Given the description of an element on the screen output the (x, y) to click on. 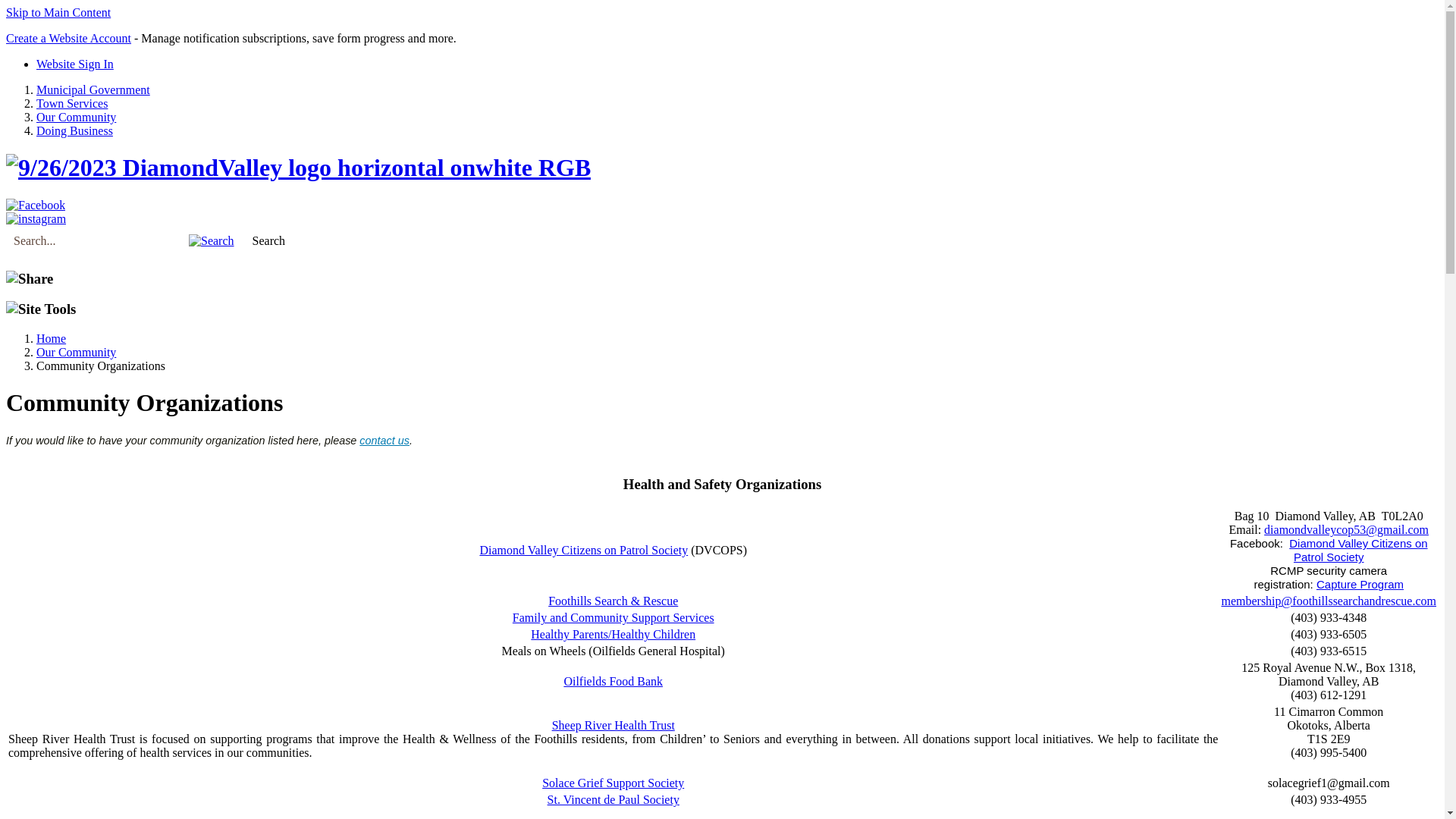
Foothills Search & Rescue Element type: text (612, 600)
Oilfields Food Bank Element type: text (612, 680)
Capture Program Element type: text (1359, 583)
Our Community Element type: text (76, 116)
Municipal Government Element type: text (93, 89)
contact us Element type: text (384, 440)
Solace Grief Support Society Element type: text (613, 782)
Family and Community Support Services Element type: text (613, 617)
Diamond Valley Citizens on Patrol Society Element type: text (583, 549)
Healthy Parents/Healthy Children Element type: text (612, 633)
Home Element type: text (50, 338)
Sheep River Health Trust Element type: text (613, 724)
Our Community Element type: text (76, 351)
Town Services Element type: text (71, 103)
Website Sign In Element type: text (74, 63)
diamondvalleycop53@gmail.com Element type: text (1346, 529)
Create a Website Account Element type: text (68, 37)
St. Vincent de Paul Society Element type: text (613, 799)
Skip to Main Content Element type: text (58, 12)
membership@foothillssearchandrescue.com Element type: text (1328, 600)
Search... Element type: hover (95, 240)
Diamond Valley Citizens on Patrol Society Element type: text (1358, 549)
Doing Business Element type: text (74, 130)
